Given the description of an element on the screen output the (x, y) to click on. 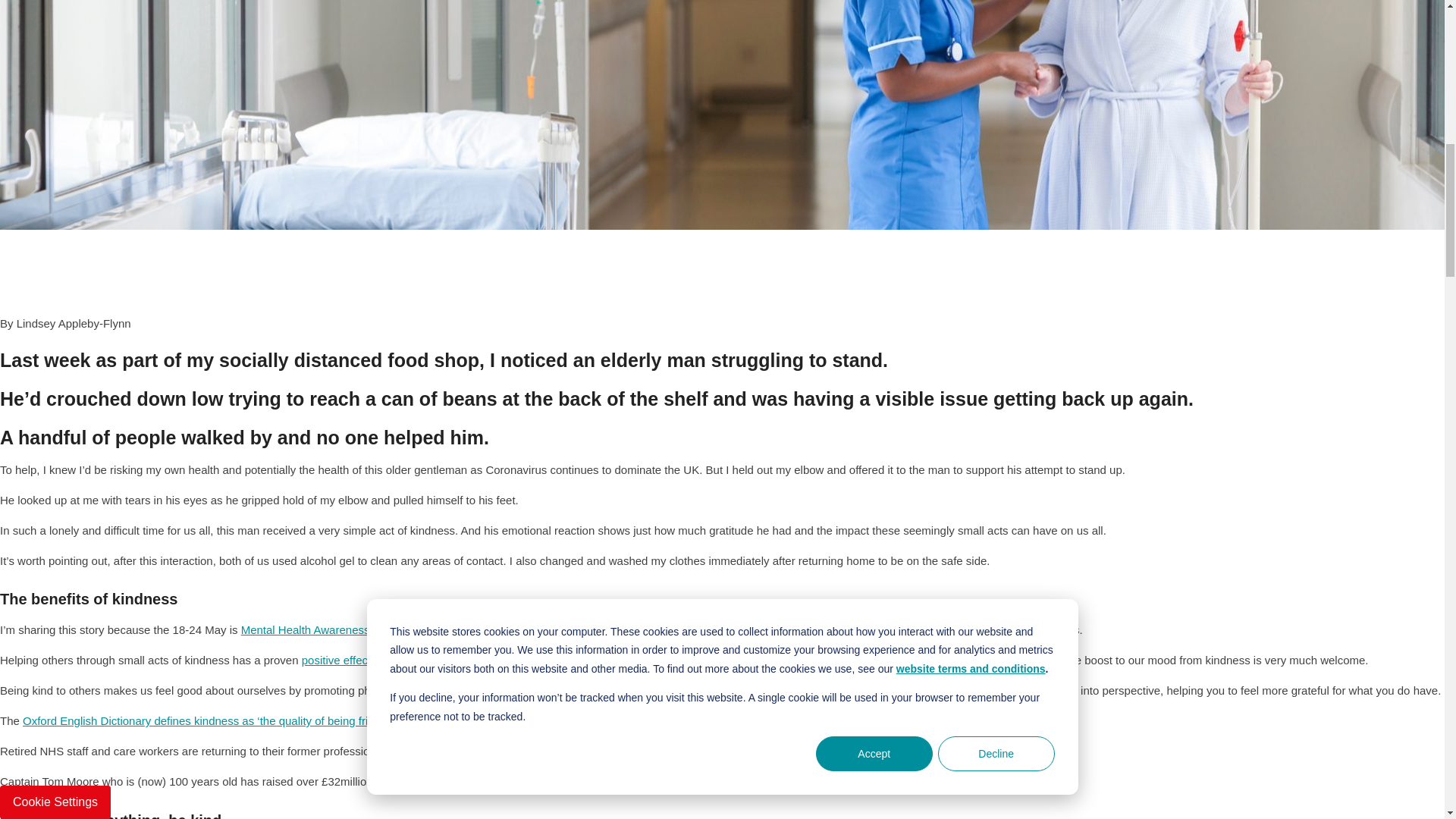
positive effect on our mental health (389, 659)
Mental Health Awareness Week 2020 (335, 629)
